Given the description of an element on the screen output the (x, y) to click on. 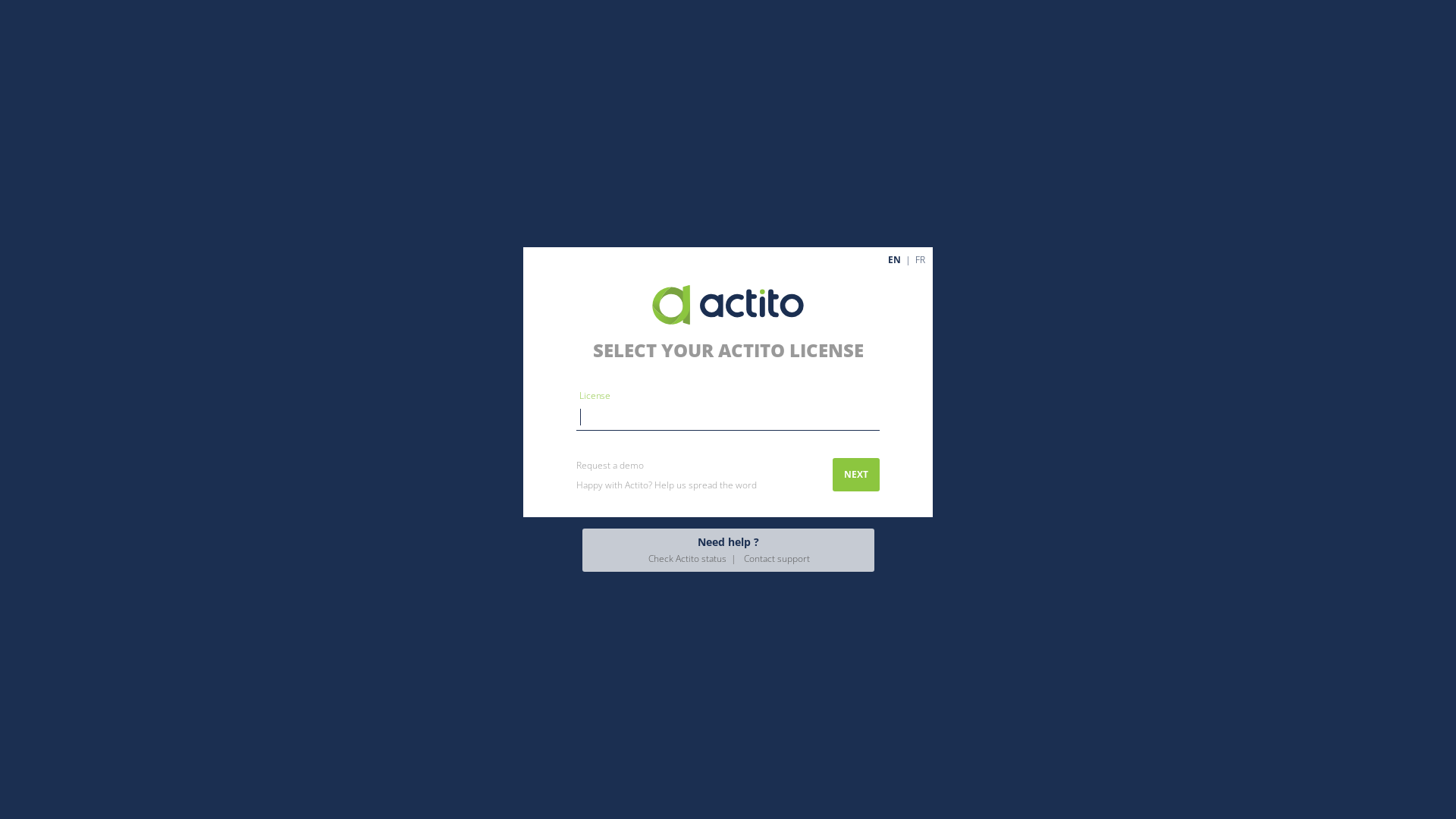
Contact support Element type: text (768, 558)
Happy with Actito? Help us spread the word Element type: text (666, 484)
FR Element type: text (920, 259)
EN Element type: text (894, 259)
Check Actito status Element type: text (687, 558)
Request a demo Element type: text (609, 464)
NEXT Element type: text (855, 474)
